Given the description of an element on the screen output the (x, y) to click on. 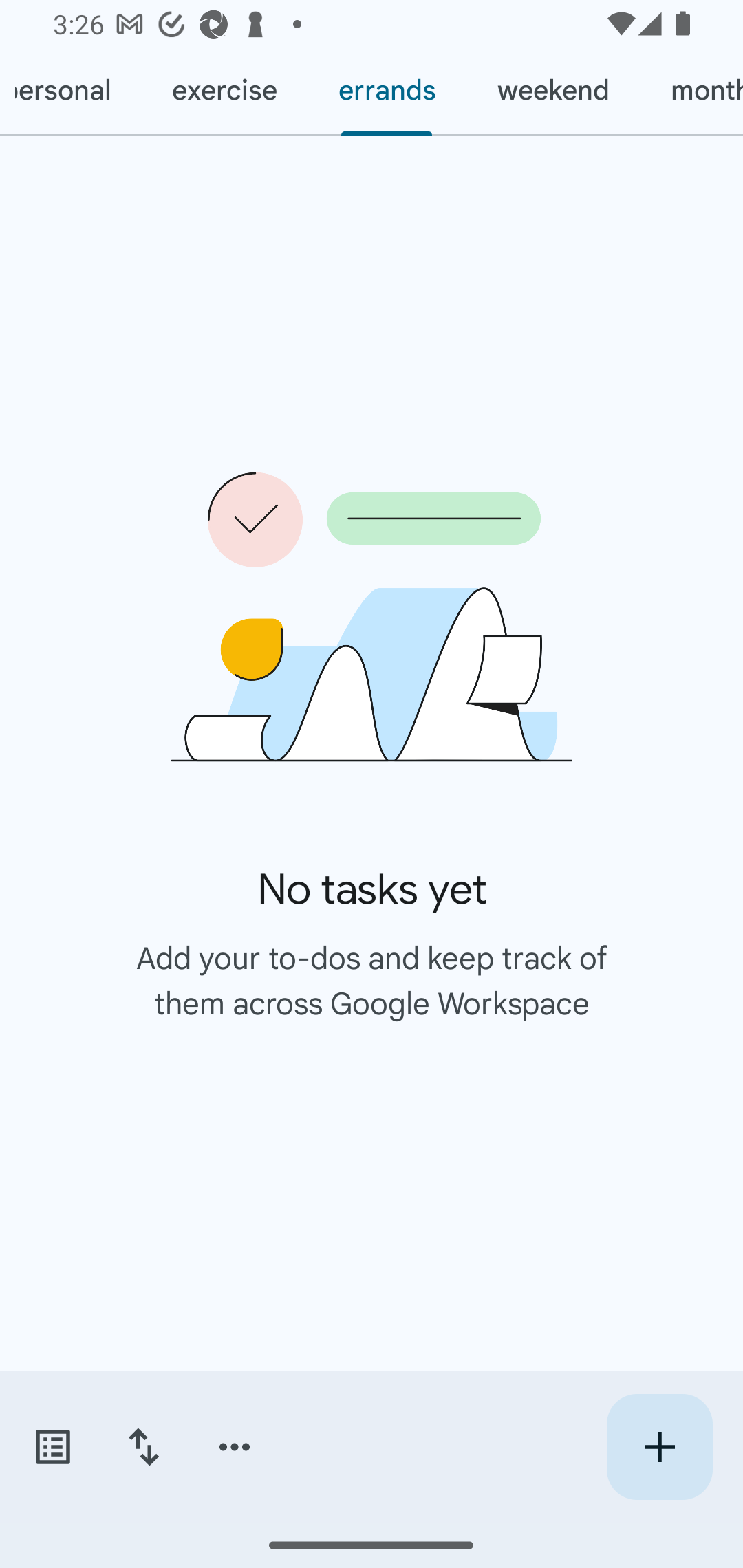
personal (70, 90)
exercise (224, 90)
weekend (552, 90)
monthly (691, 90)
Switch task lists (52, 1447)
Create new task (659, 1446)
Change sort order (143, 1446)
More options (234, 1446)
